Given the description of an element on the screen output the (x, y) to click on. 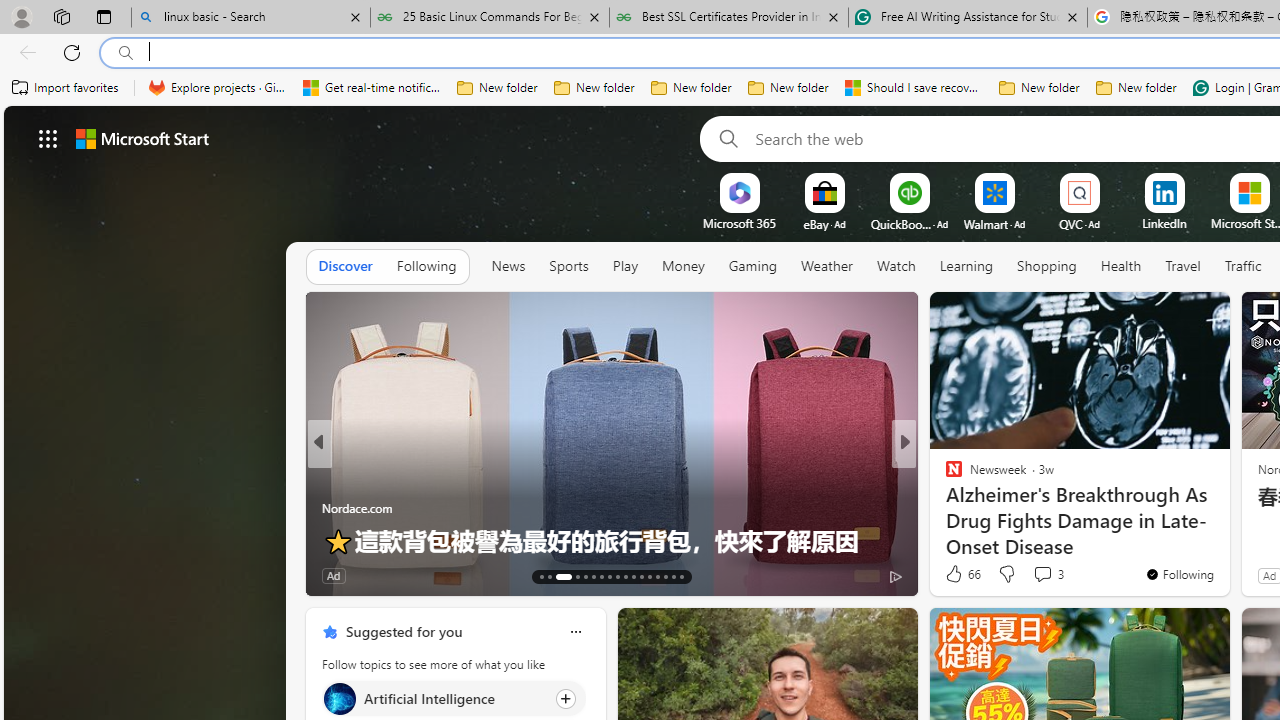
View comments 2 Comment (1041, 574)
95 Like (956, 574)
25 Basic Linux Commands For Beginners - GeeksforGeeks (490, 17)
107 Like (959, 574)
Traffic (1242, 267)
Learning (966, 267)
Money (682, 265)
Play (625, 265)
AutomationID: tab-22 (624, 576)
AutomationID: tab-29 (681, 576)
Play (625, 267)
